Given the description of an element on the screen output the (x, y) to click on. 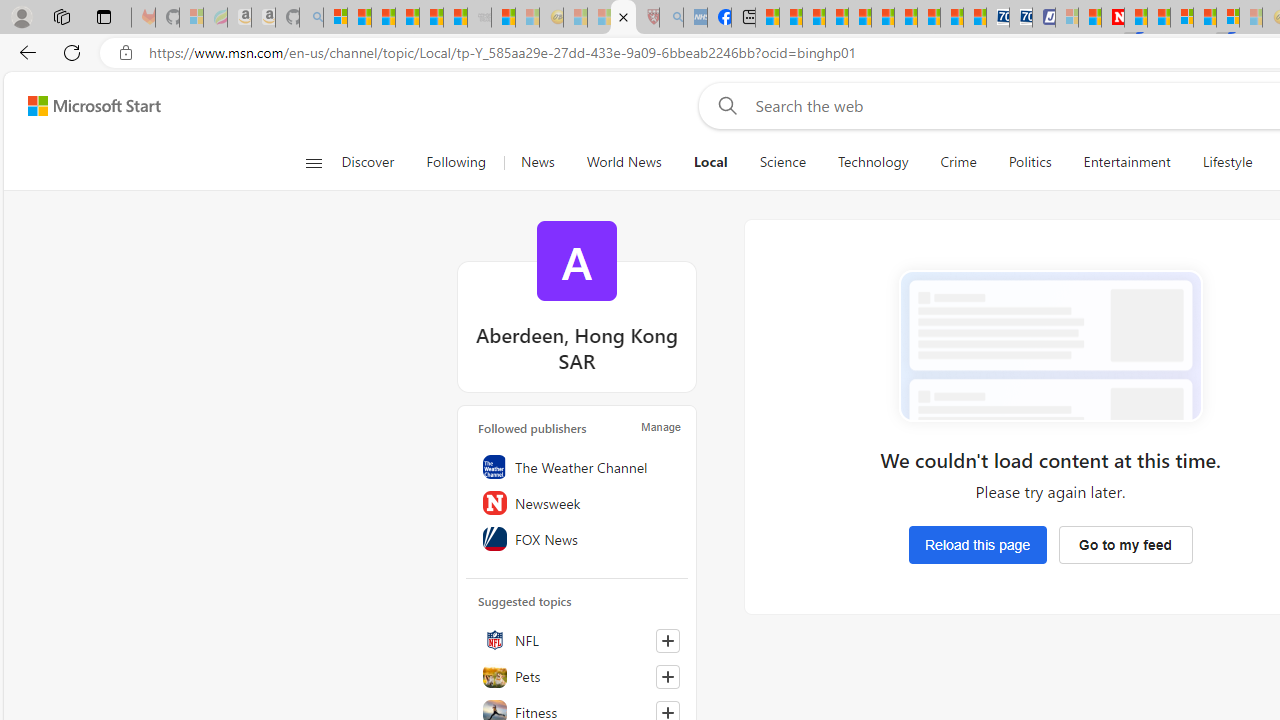
Open navigation menu (313, 162)
Manage (660, 426)
Cheap Hotels - Save70.com (1020, 17)
New Report Confirms 2023 Was Record Hot | Watch (430, 17)
